Given the description of an element on the screen output the (x, y) to click on. 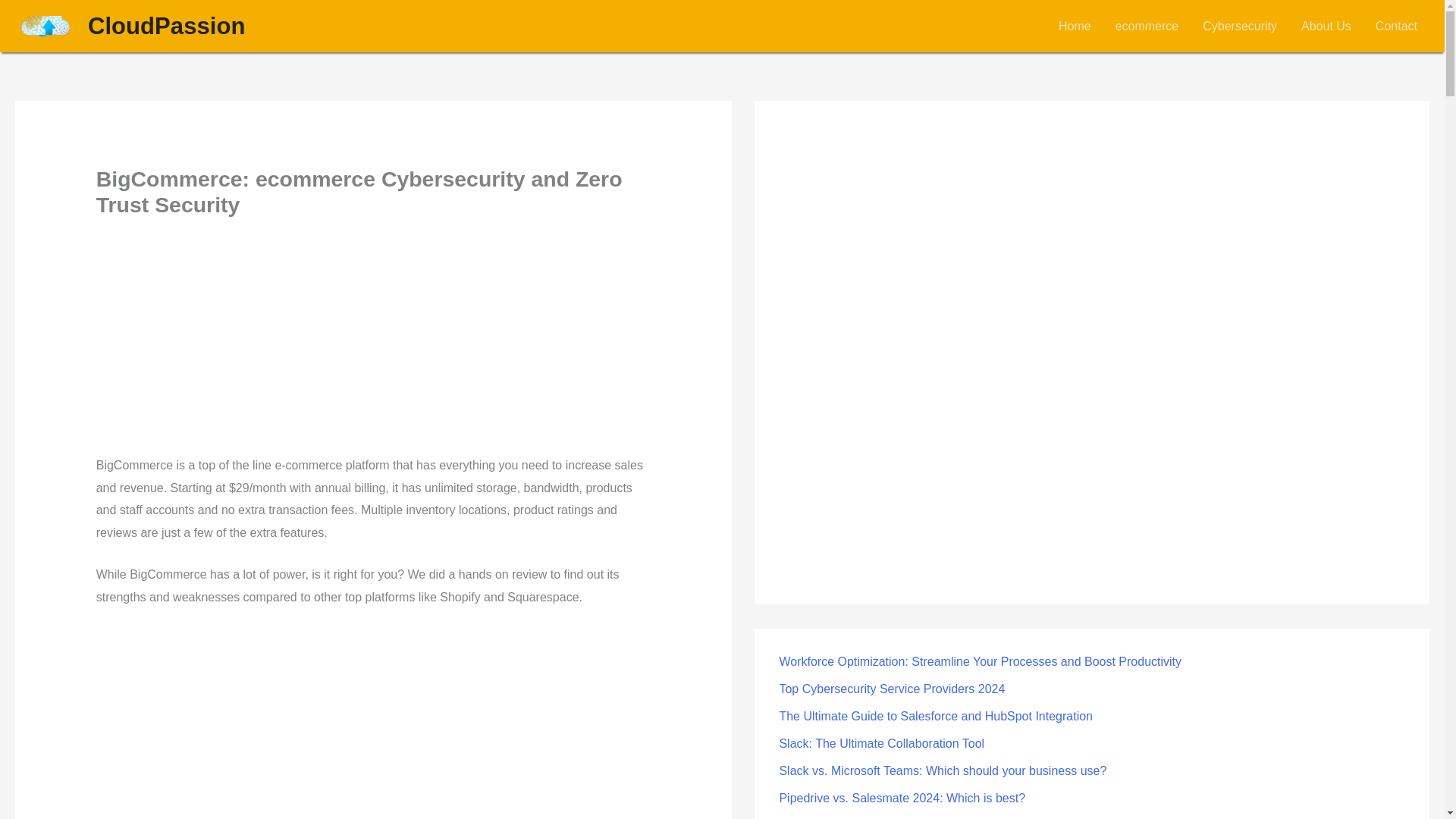
Advertisement (373, 723)
Top Cybersecurity Service Providers 2024 (891, 688)
Slack vs. Microsoft Teams: Which should your business use? (942, 770)
Contact (1395, 26)
Advertisement (373, 341)
CloudPassion (165, 26)
Slack: The Ultimate Collaboration Tool (881, 743)
Home (1074, 26)
ecommerce (1147, 26)
Cybersecurity (1239, 26)
The Ultimate Guide to Salesforce and HubSpot Integration (935, 716)
About Us (1325, 26)
